Given the description of an element on the screen output the (x, y) to click on. 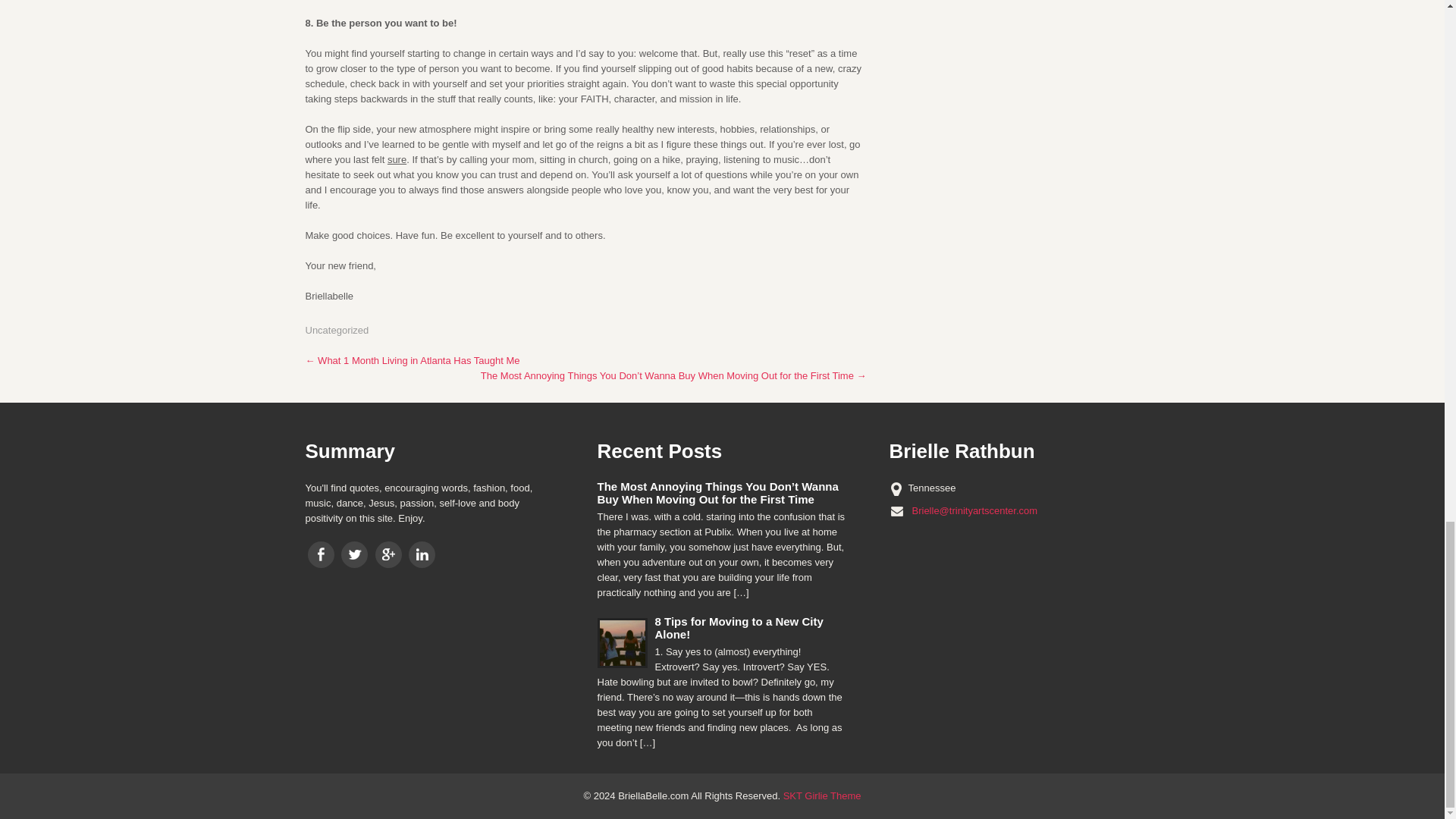
twitter (354, 554)
linkedin (422, 554)
8 Tips for Moving to a New City Alone! (721, 627)
Uncategorized (336, 329)
google-plus (388, 554)
SKT Girlie Theme (822, 795)
facebook (320, 554)
